Given the description of an element on the screen output the (x, y) to click on. 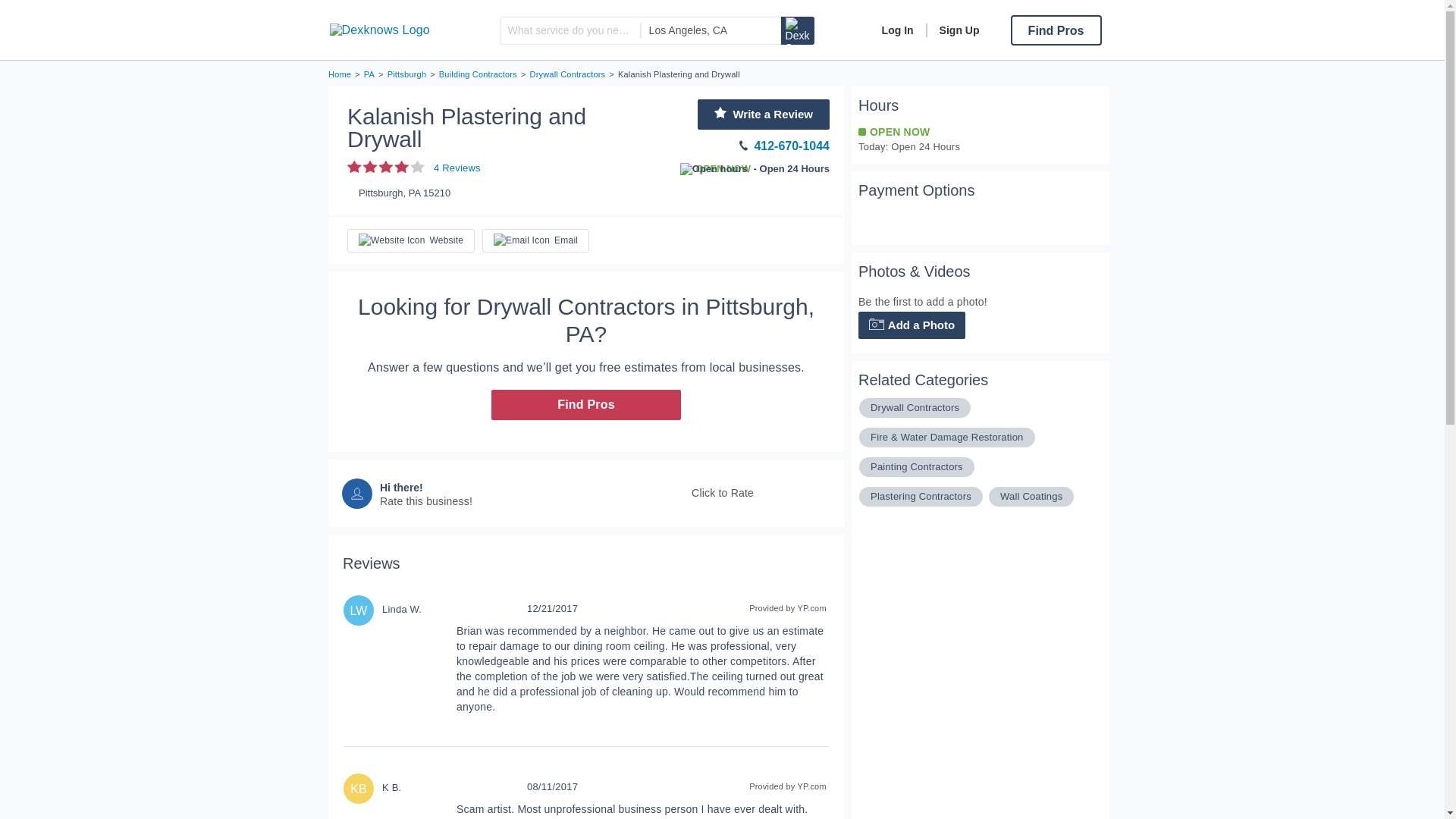
Pittsburgh (406, 73)
Website (410, 240)
Log In (898, 30)
Add a Photo (912, 325)
4 Reviews (413, 166)
Drywall Contractors (914, 407)
Wall Coatings (1031, 496)
CHECK (880, 222)
Drywall Contractors (567, 73)
Find (796, 30)
